Given the description of an element on the screen output the (x, y) to click on. 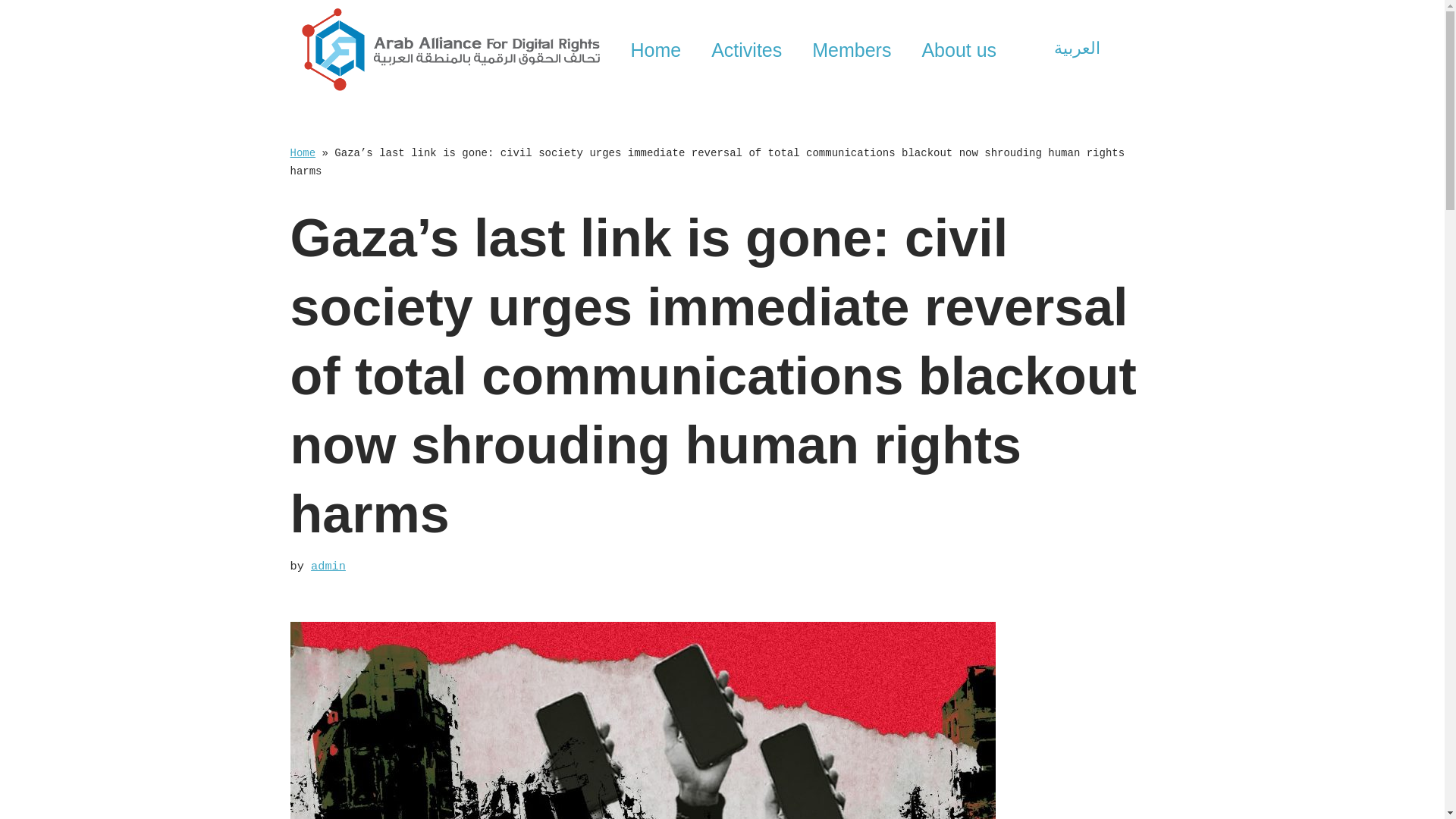
Activites (745, 49)
Skip to content (11, 31)
Home (302, 152)
admin (328, 566)
About us (958, 49)
Home (654, 49)
Members (850, 49)
Posts by admin (328, 566)
